Given the description of an element on the screen output the (x, y) to click on. 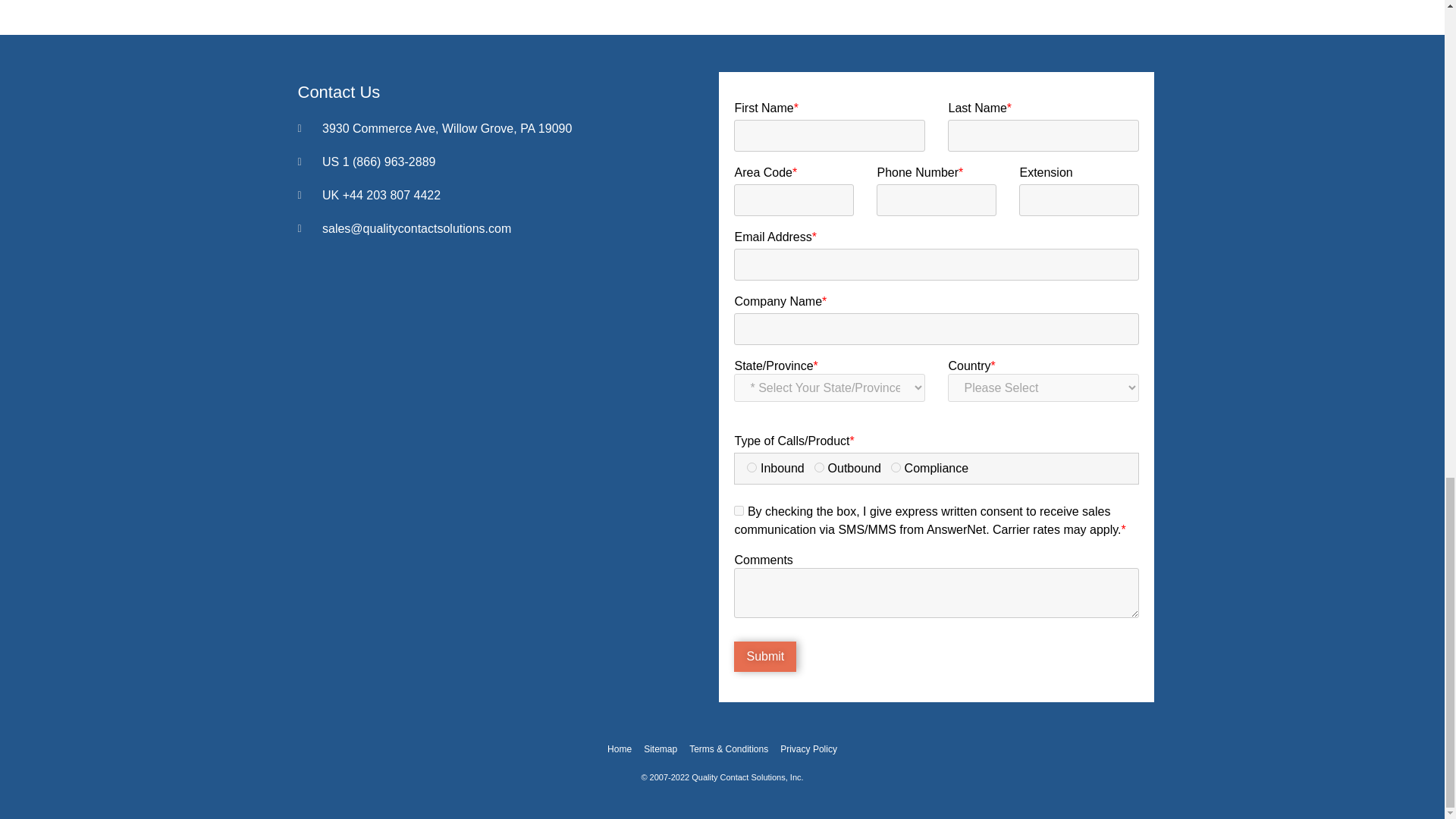
QCSInbound (751, 467)
QCSCompliance (896, 467)
yes (738, 510)
Submit (764, 656)
QCSOutbound (818, 467)
